Given the description of an element on the screen output the (x, y) to click on. 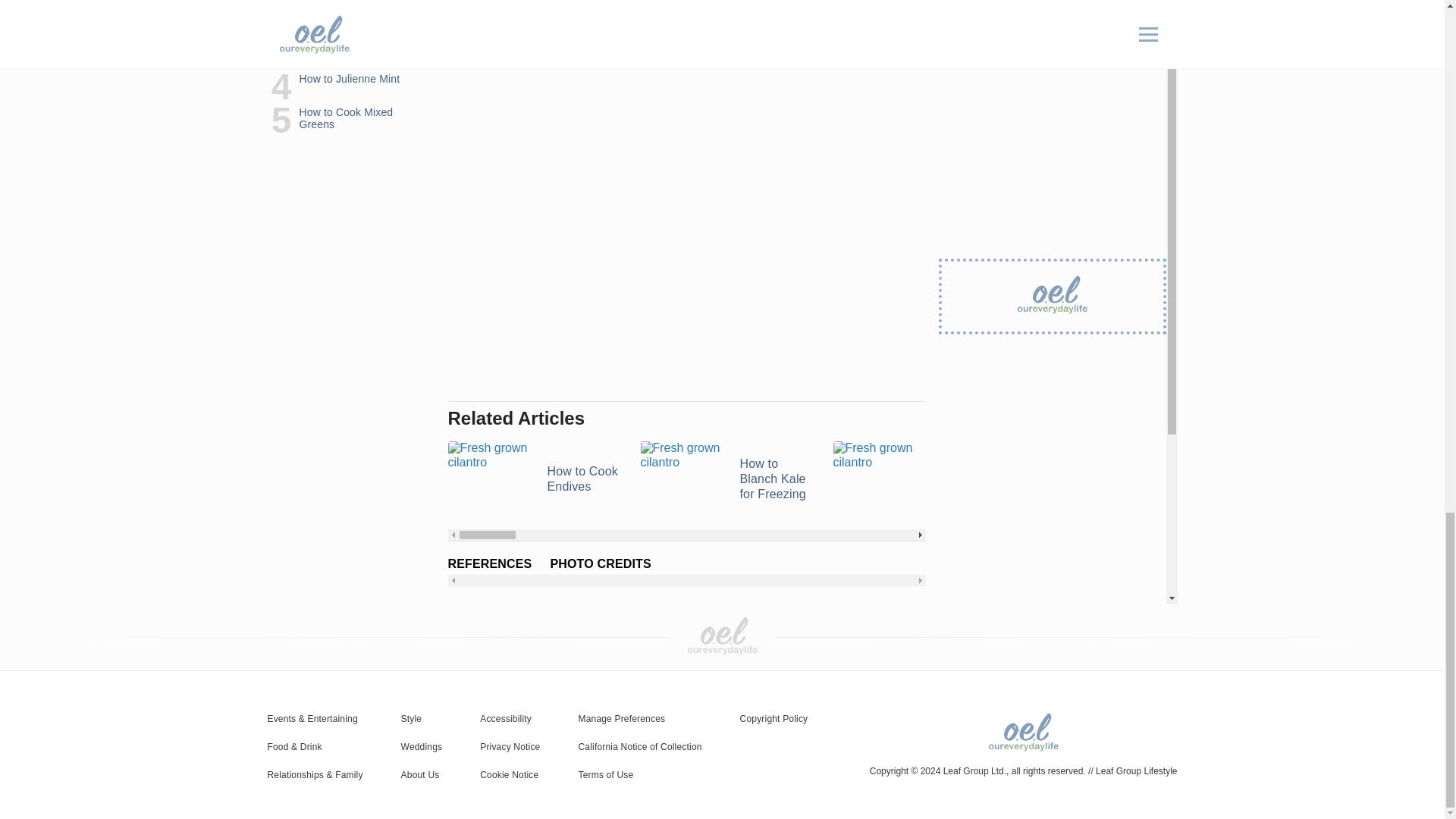
How to Cook Brussels Sprout Greens (919, 478)
How to Cook Endives (533, 478)
How to Cook Mixed Greens (1304, 478)
How to Blanch Kale for Freezing (726, 478)
How to Julienne Mint (1112, 478)
